Given the description of an element on the screen output the (x, y) to click on. 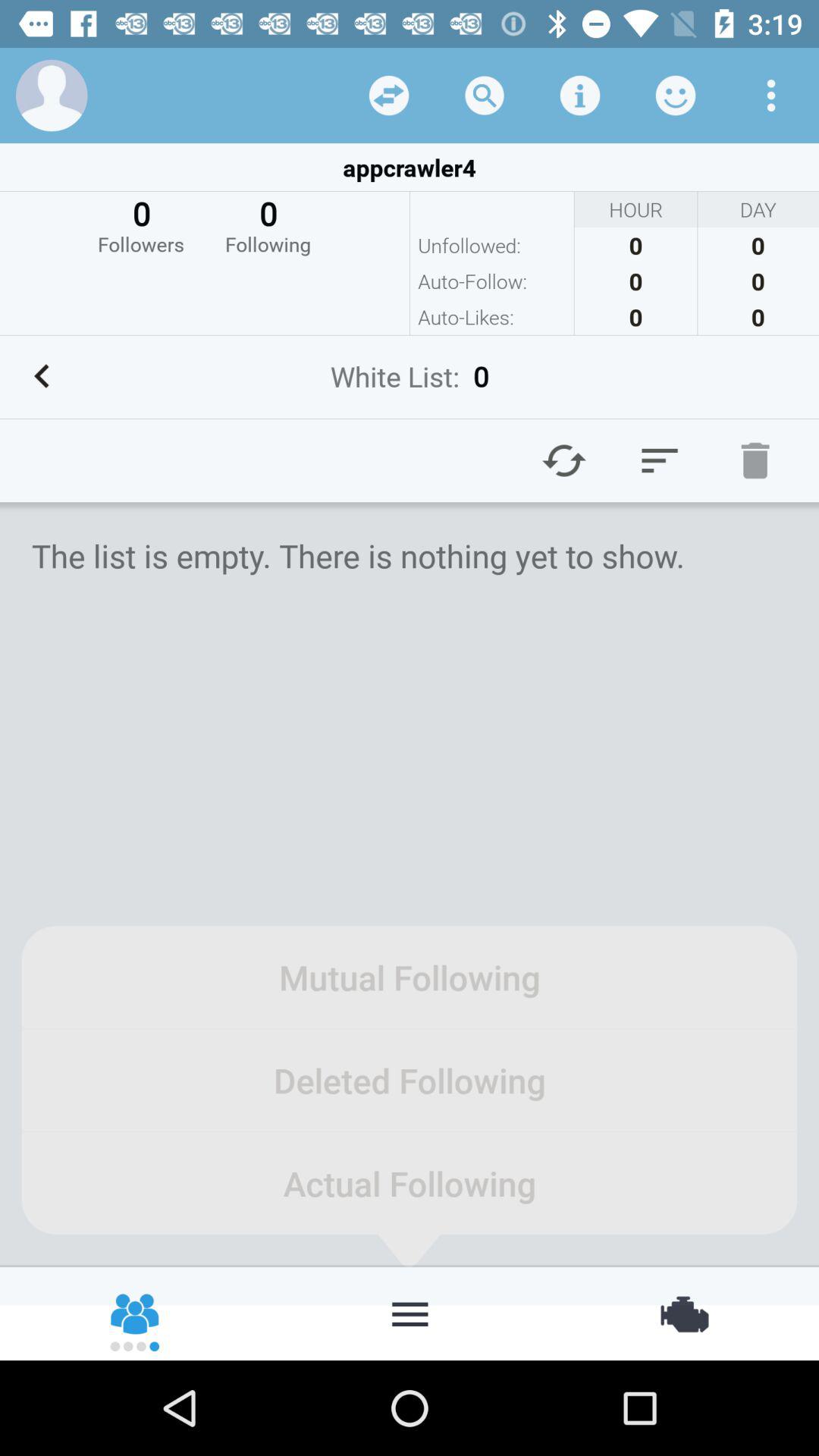
click the profile picture (51, 95)
